Given the description of an element on the screen output the (x, y) to click on. 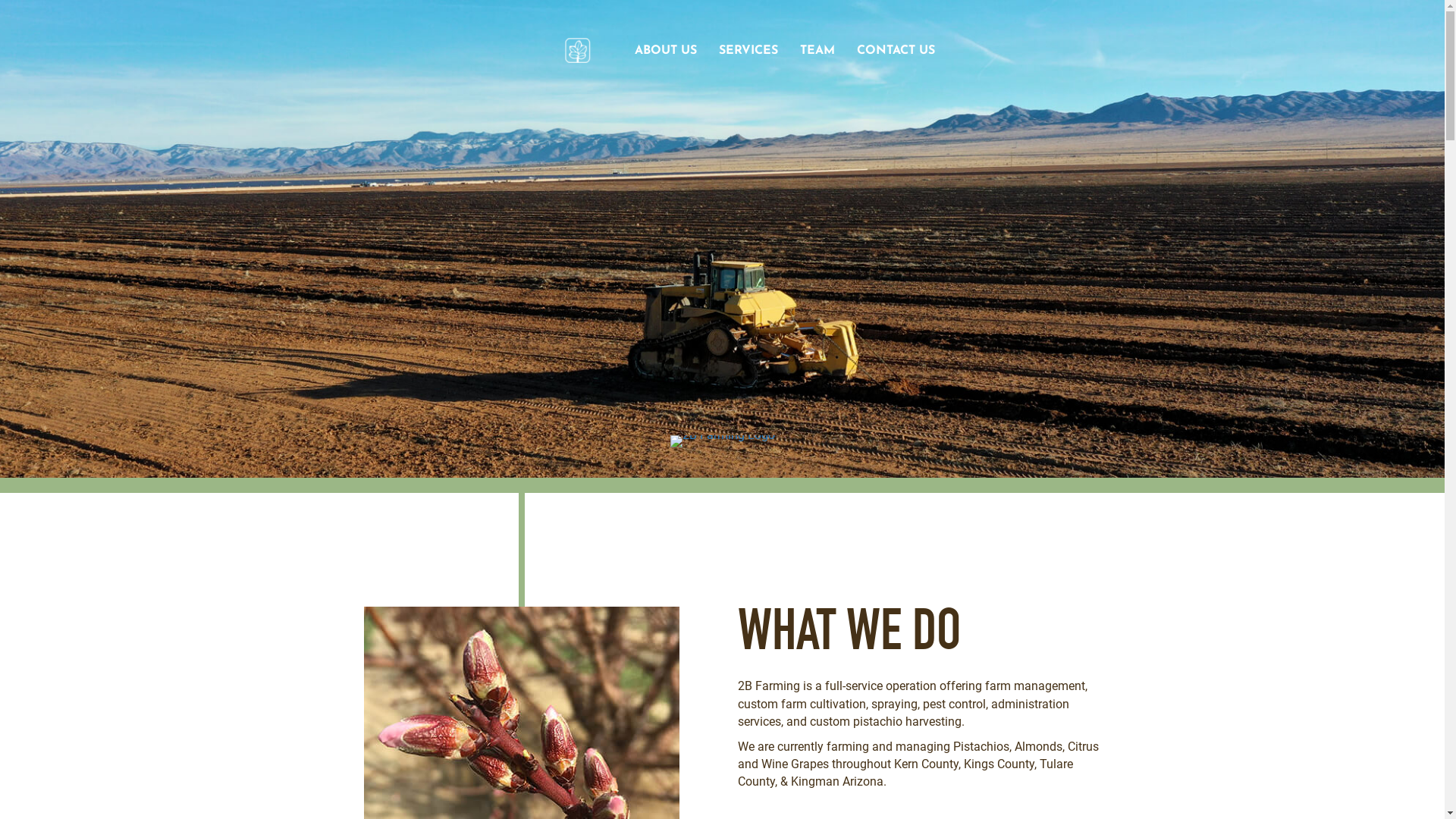
2B Farming Logo Element type: hover (722, 441)
2B Farming Logo Small Element type: hover (576, 50)
TEAM Element type: text (817, 50)
CONTACT US Element type: text (895, 50)
SERVICES Element type: text (748, 50)
ABOUT US Element type: text (665, 50)
